Given the description of an element on the screen output the (x, y) to click on. 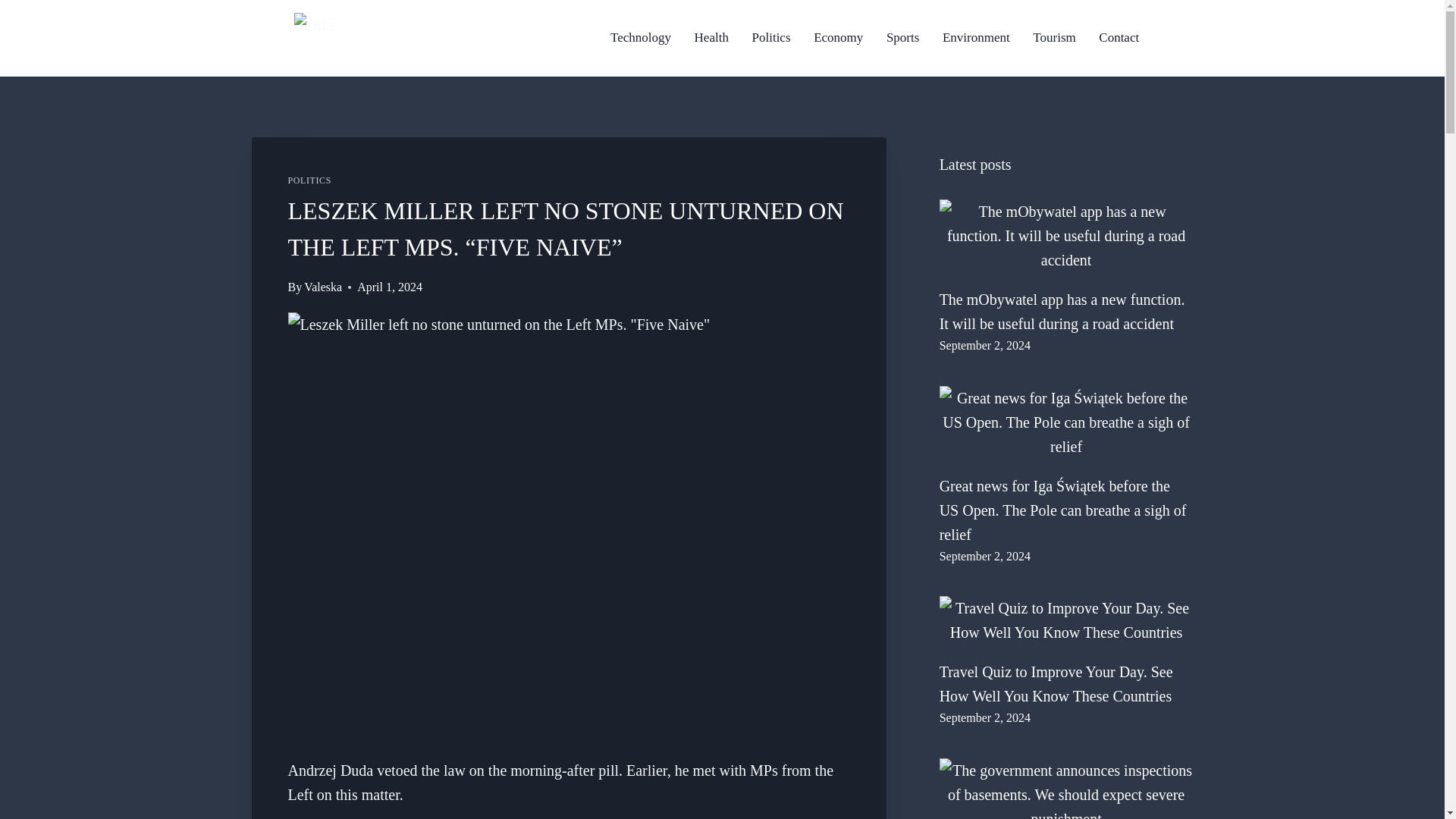
Technology (640, 37)
September 2, 2024 (984, 345)
September 2, 2024 (984, 717)
3:26 am (984, 555)
2:26 am (984, 717)
